Given the description of an element on the screen output the (x, y) to click on. 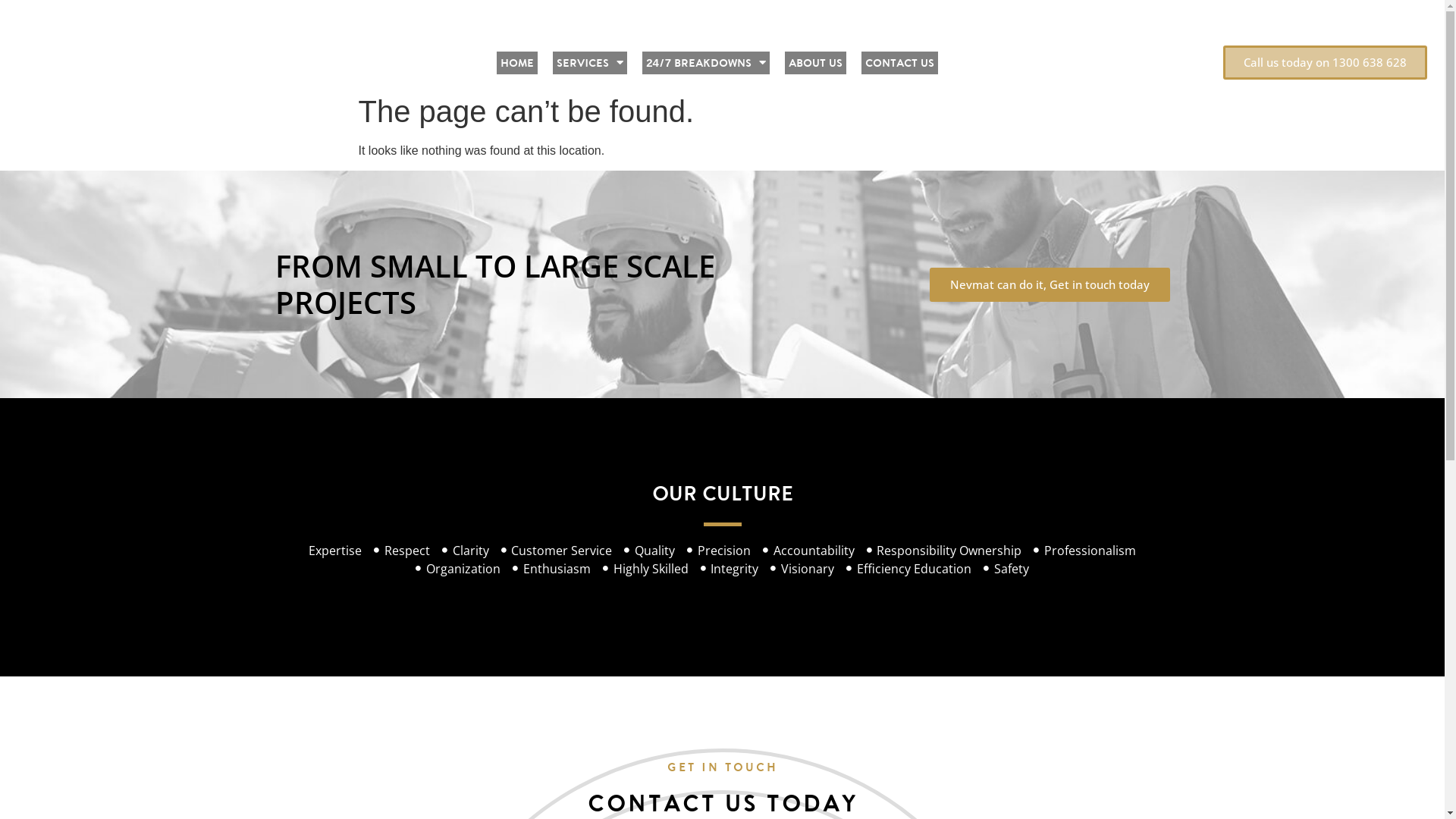
CONTACT US Element type: text (899, 62)
24/7 BREAKDOWNS Element type: text (705, 62)
HOME Element type: text (516, 62)
ABOUT US Element type: text (815, 62)
Nevmat can do it, Get in touch today Element type: text (1049, 284)
Call us today on 1300 638 628 Element type: text (1325, 62)
SERVICES Element type: text (589, 62)
